Given the description of an element on the screen output the (x, y) to click on. 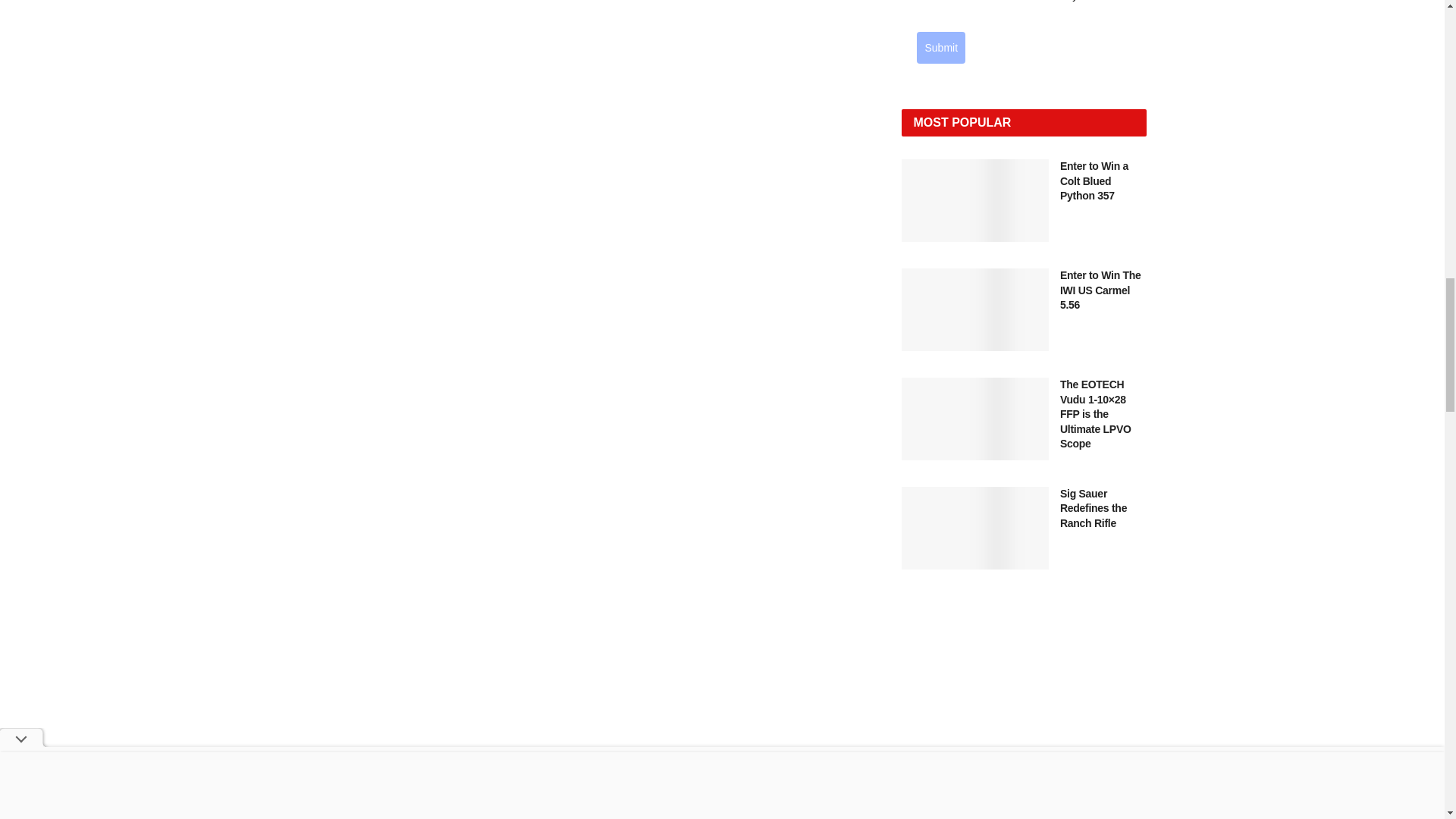
3rd party ad content (1024, 720)
